Given the description of an element on the screen output the (x, y) to click on. 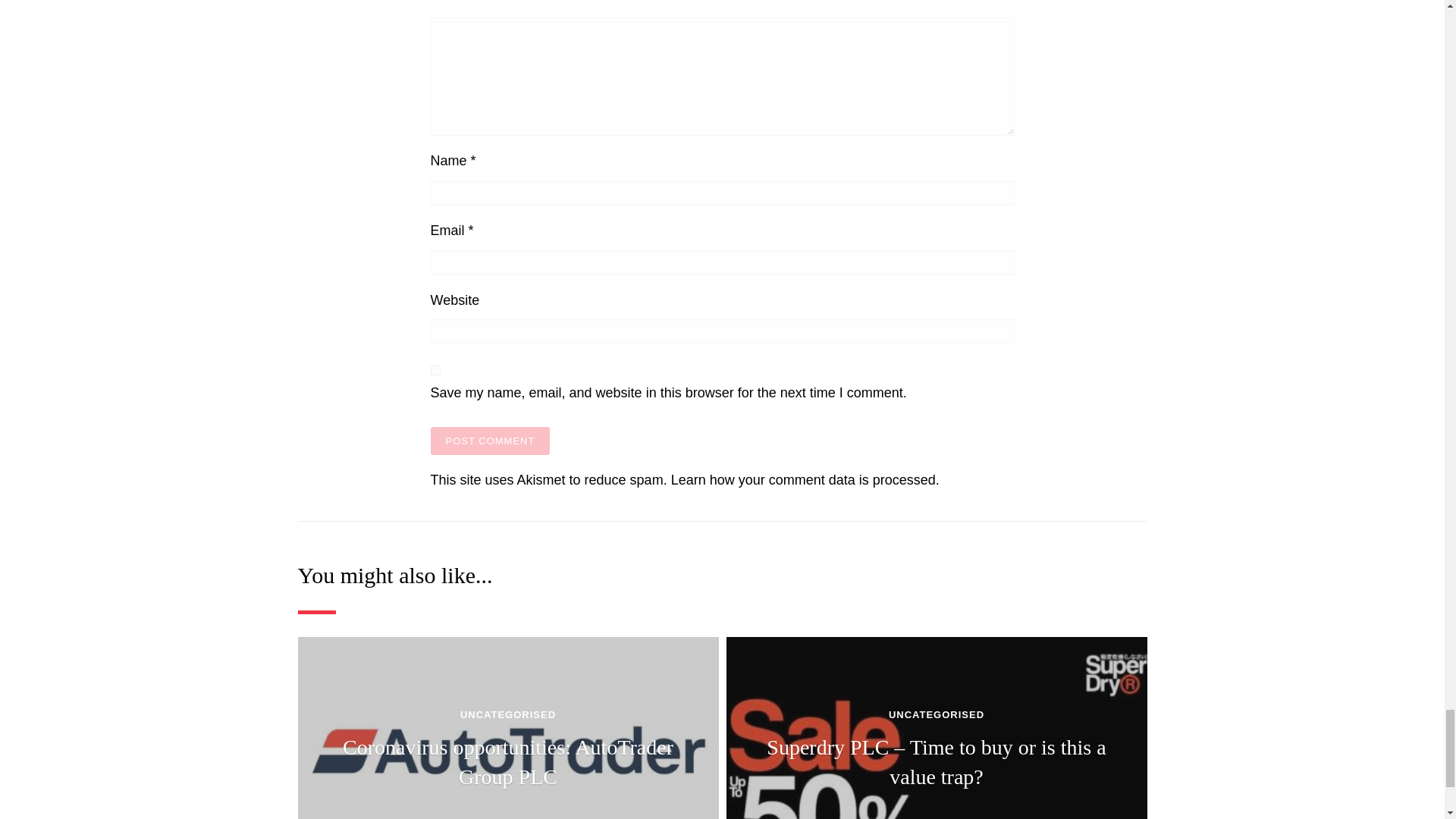
Learn how your comment data is processed (803, 479)
Post Comment (490, 440)
Post Comment (490, 440)
yes (435, 370)
